Given the description of an element on the screen output the (x, y) to click on. 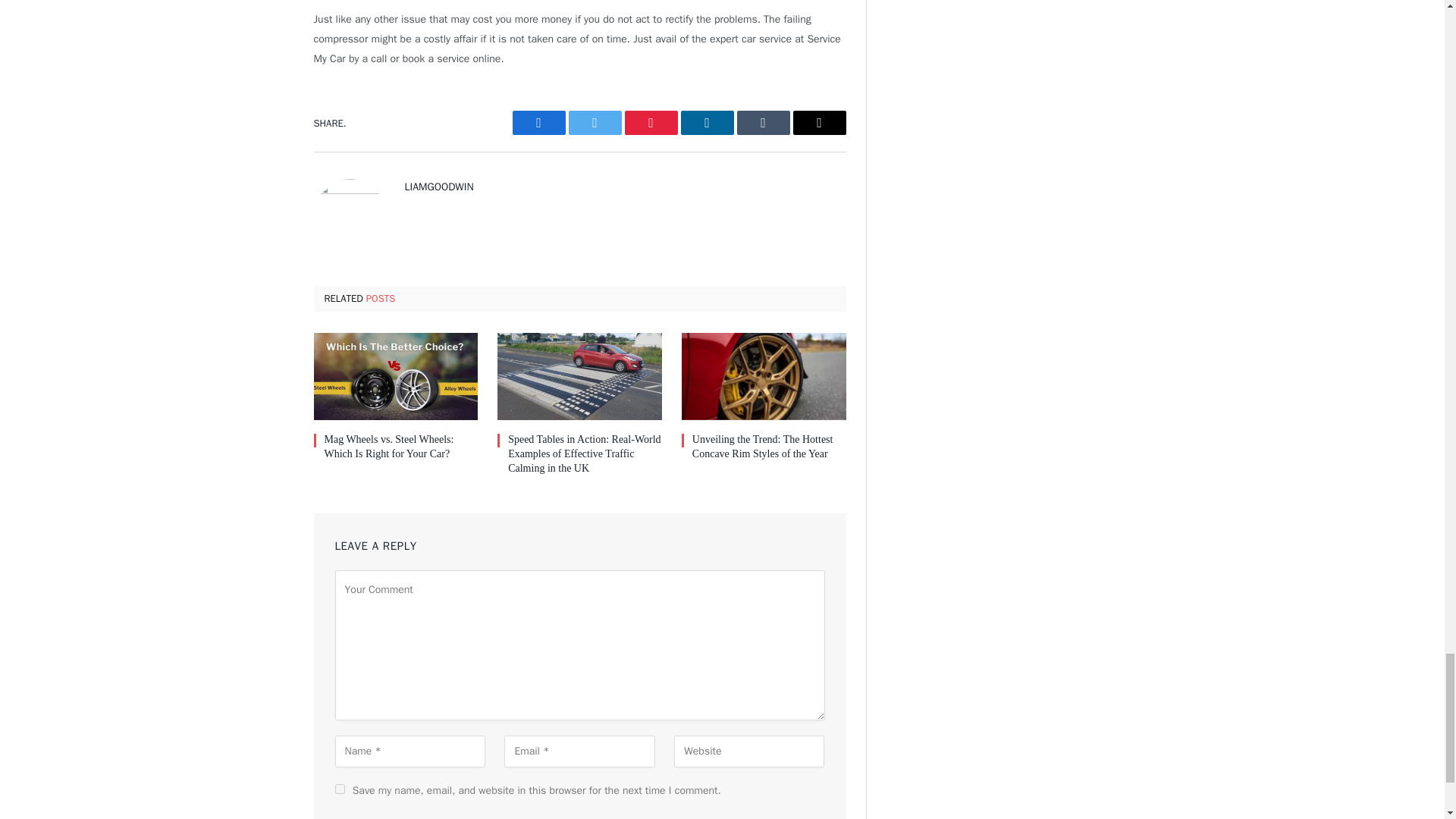
Email (819, 122)
Twitter (595, 122)
Facebook (539, 122)
Pinterest (651, 122)
Tumblr (763, 122)
LinkedIn (707, 122)
Share on Facebook (539, 122)
yes (339, 788)
